Given the description of an element on the screen output the (x, y) to click on. 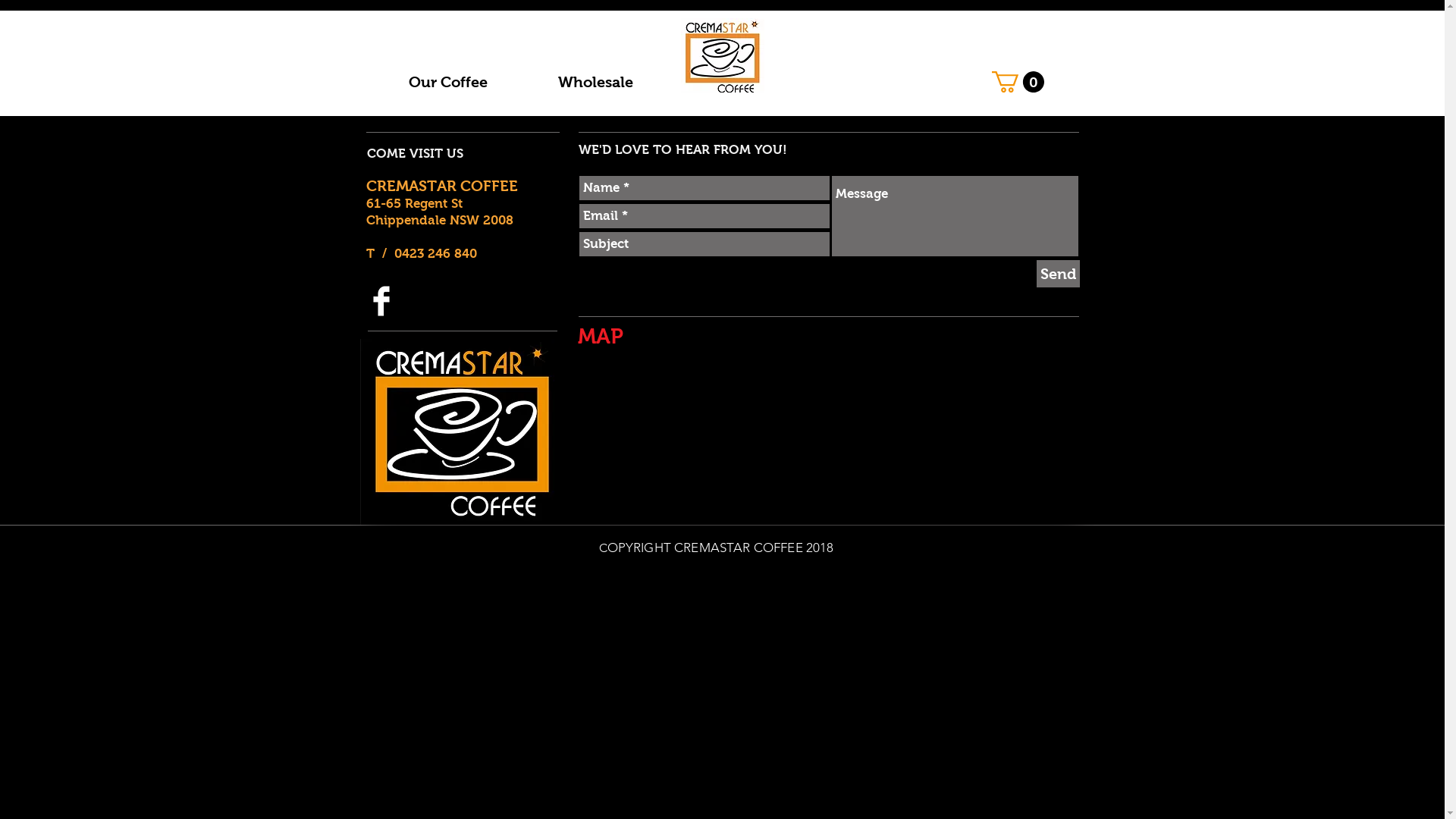
"coffee beans", "buy coffee", 13 Element type: hover (461, 431)
Our Coffee Element type: text (447, 81)
Cremastar Coffee logo Best Coffee Sydney Element type: hover (722, 55)
Send Element type: text (1057, 273)
Wholesale Element type: text (595, 81)
0 Element type: text (1017, 81)
